Given the description of an element on the screen output the (x, y) to click on. 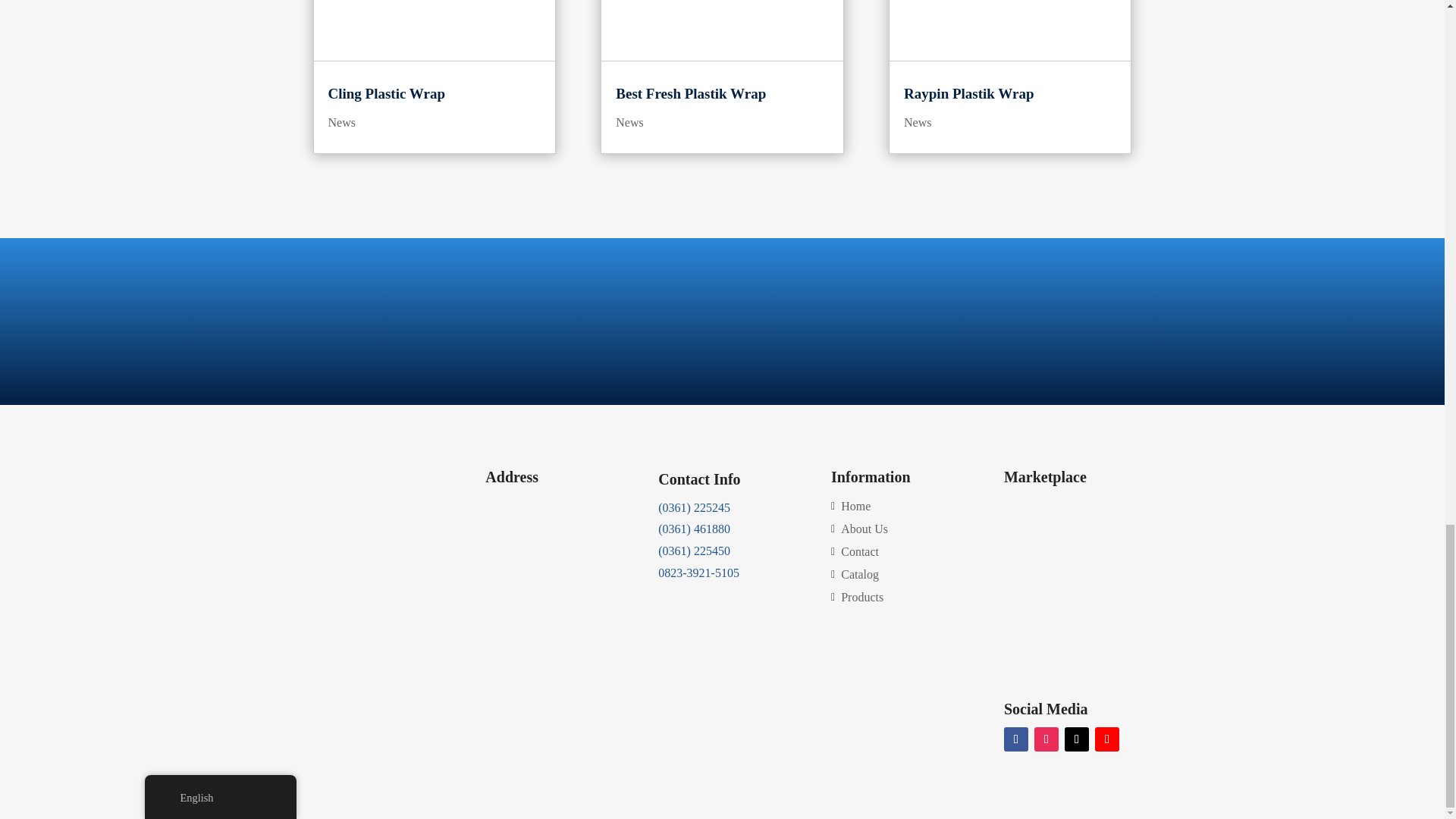
News (629, 122)
About Us (861, 532)
Raypin Plastik Wrap (968, 93)
News (917, 122)
Catalog (856, 577)
Follow on Instagram (1045, 739)
0823-3921-5105 (698, 572)
Best Fresh Plastik Wrap (690, 93)
Follow on Youtube (1106, 739)
Products (858, 600)
